Given the description of an element on the screen output the (x, y) to click on. 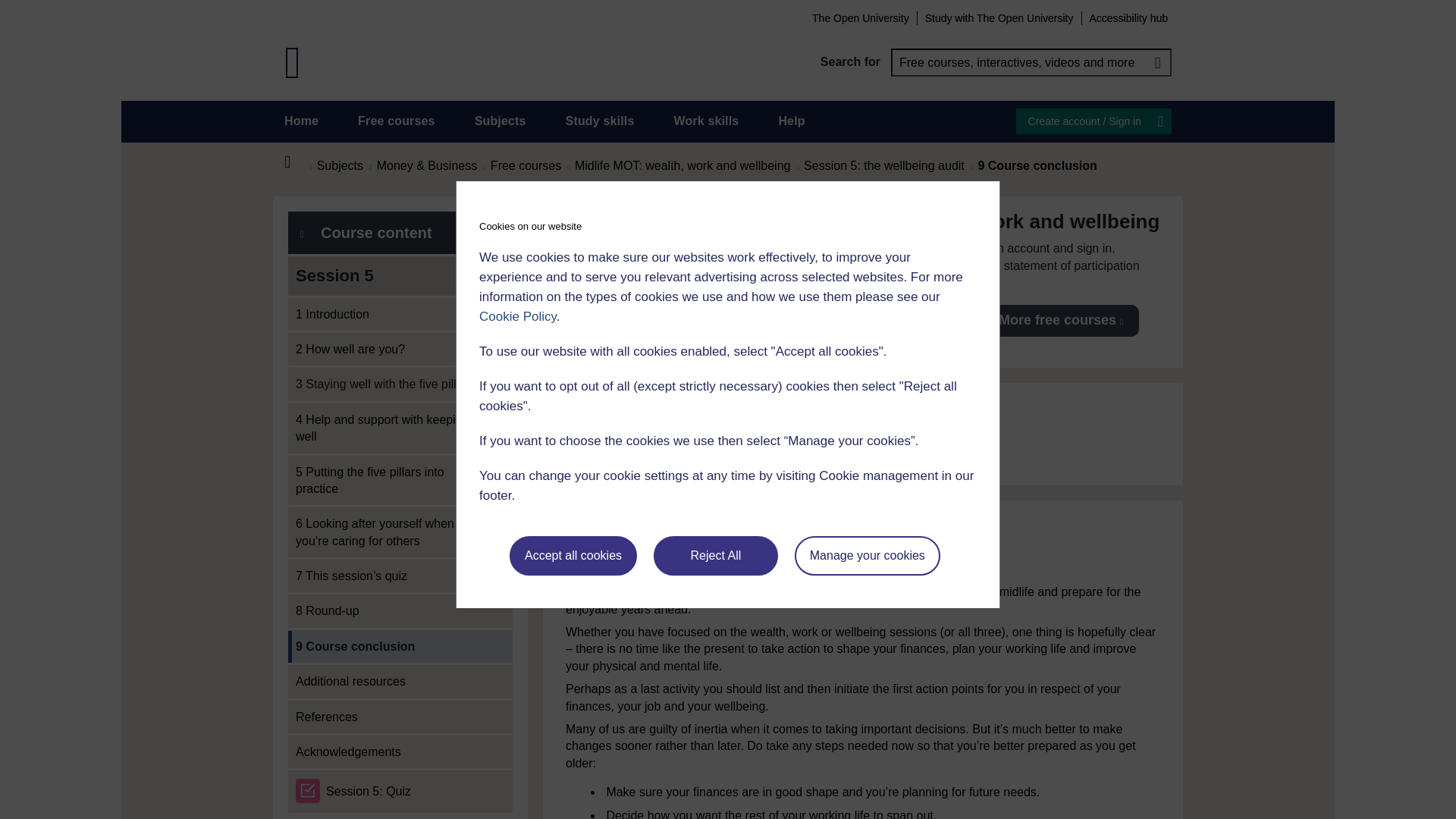
Reject All (715, 555)
The Open University (860, 17)
Search (1157, 62)
Study with The Open University (999, 17)
Home (295, 162)
Home (300, 120)
Help (791, 120)
Accessibility hub (1129, 17)
Study skills (600, 120)
Manage your cookies (867, 555)
